Given the description of an element on the screen output the (x, y) to click on. 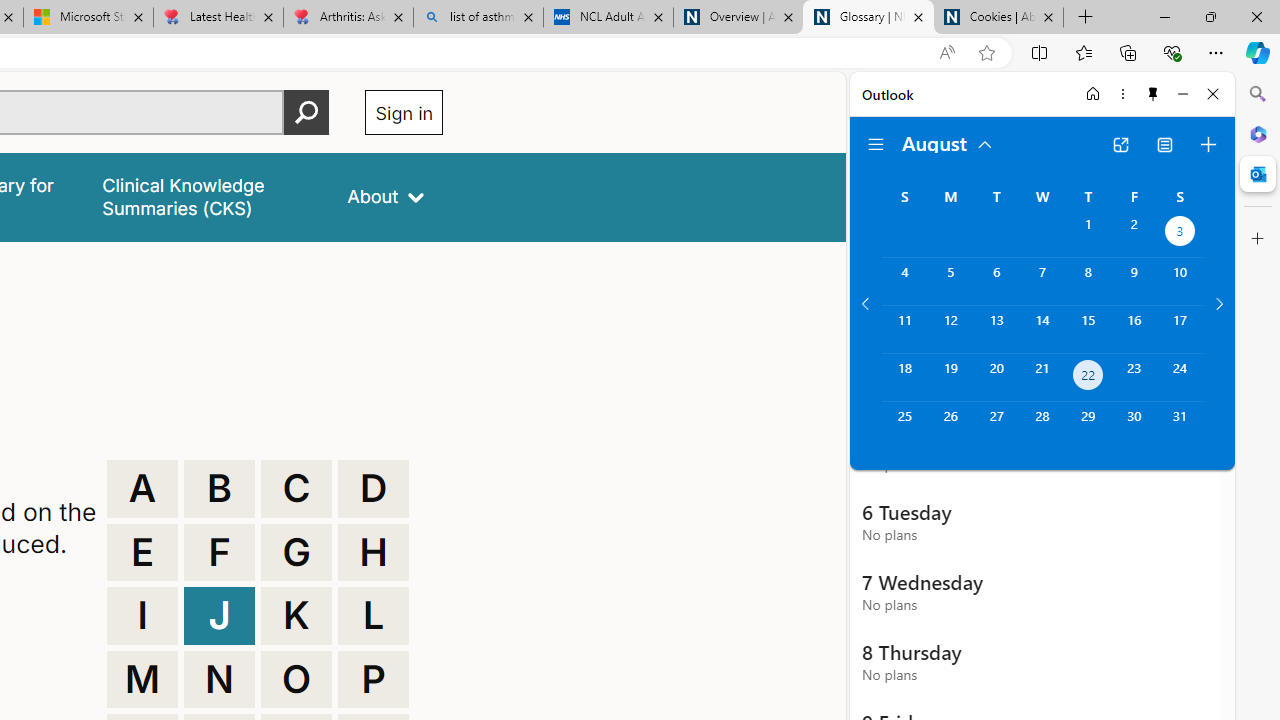
Wednesday, August 28, 2024.  (1042, 425)
A (142, 488)
